Given the description of an element on the screen output the (x, y) to click on. 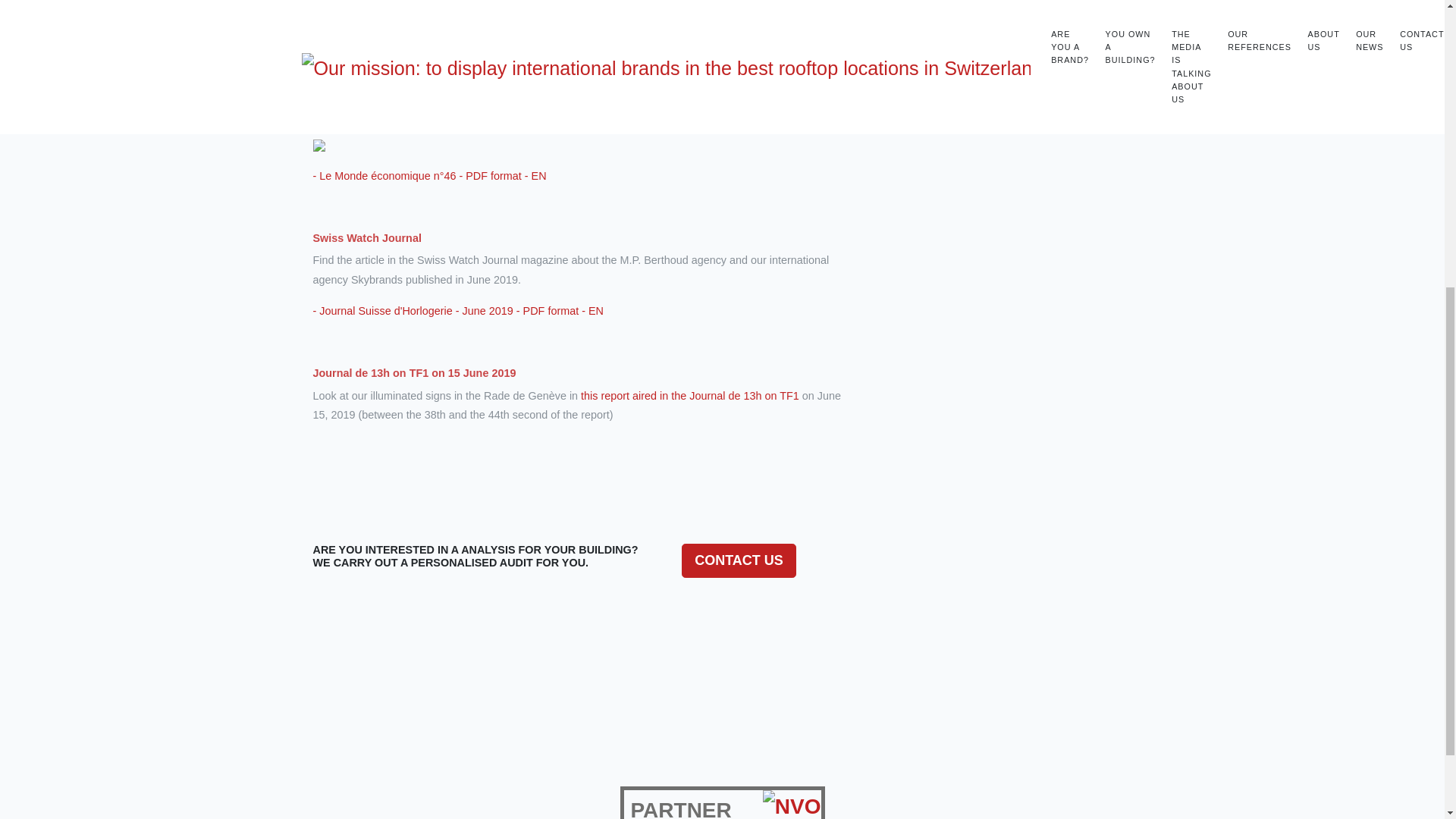
CONTACT US (738, 560)
this report aired in the Journal de 13h on TF1 (689, 395)
- Journal Suisse d'Horlogerie - June 2019 - PDF format - EN (457, 310)
